Given the description of an element on the screen output the (x, y) to click on. 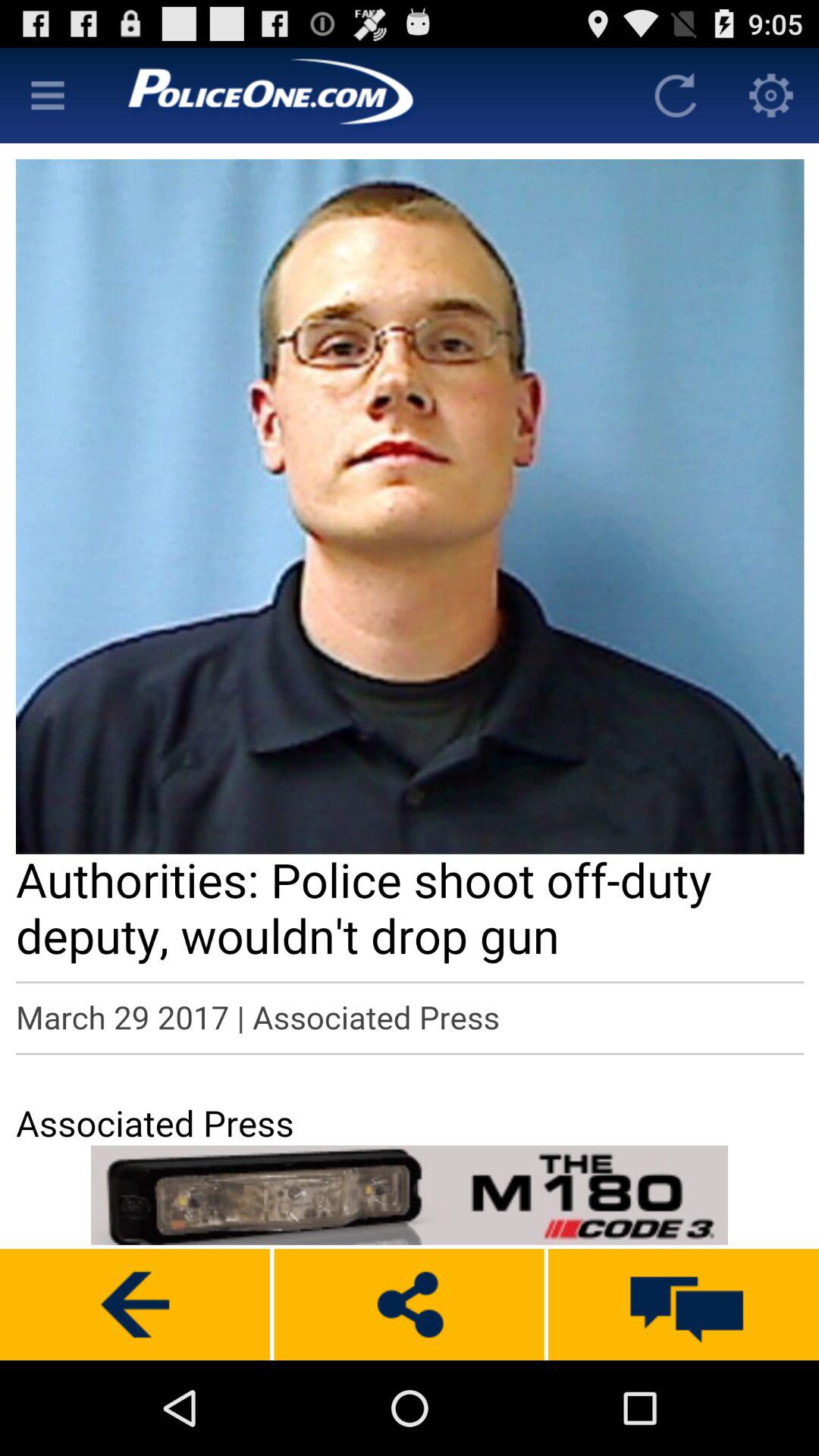
chat box (683, 1304)
